Given the description of an element on the screen output the (x, y) to click on. 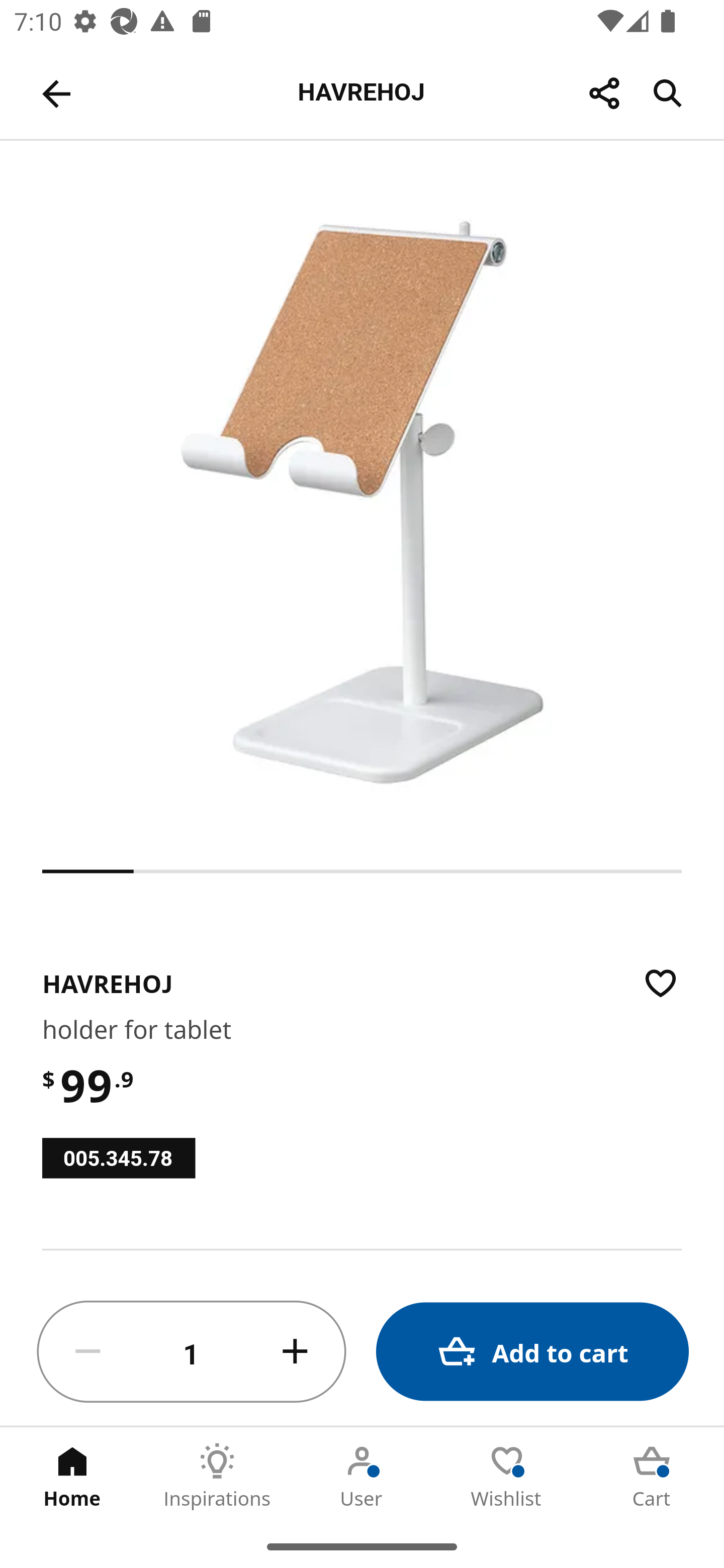
Add to cart (531, 1352)
1 (191, 1352)
Home
Tab 1 of 5 (72, 1476)
Inspirations
Tab 2 of 5 (216, 1476)
User
Tab 3 of 5 (361, 1476)
Wishlist
Tab 4 of 5 (506, 1476)
Cart
Tab 5 of 5 (651, 1476)
